Given the description of an element on the screen output the (x, y) to click on. 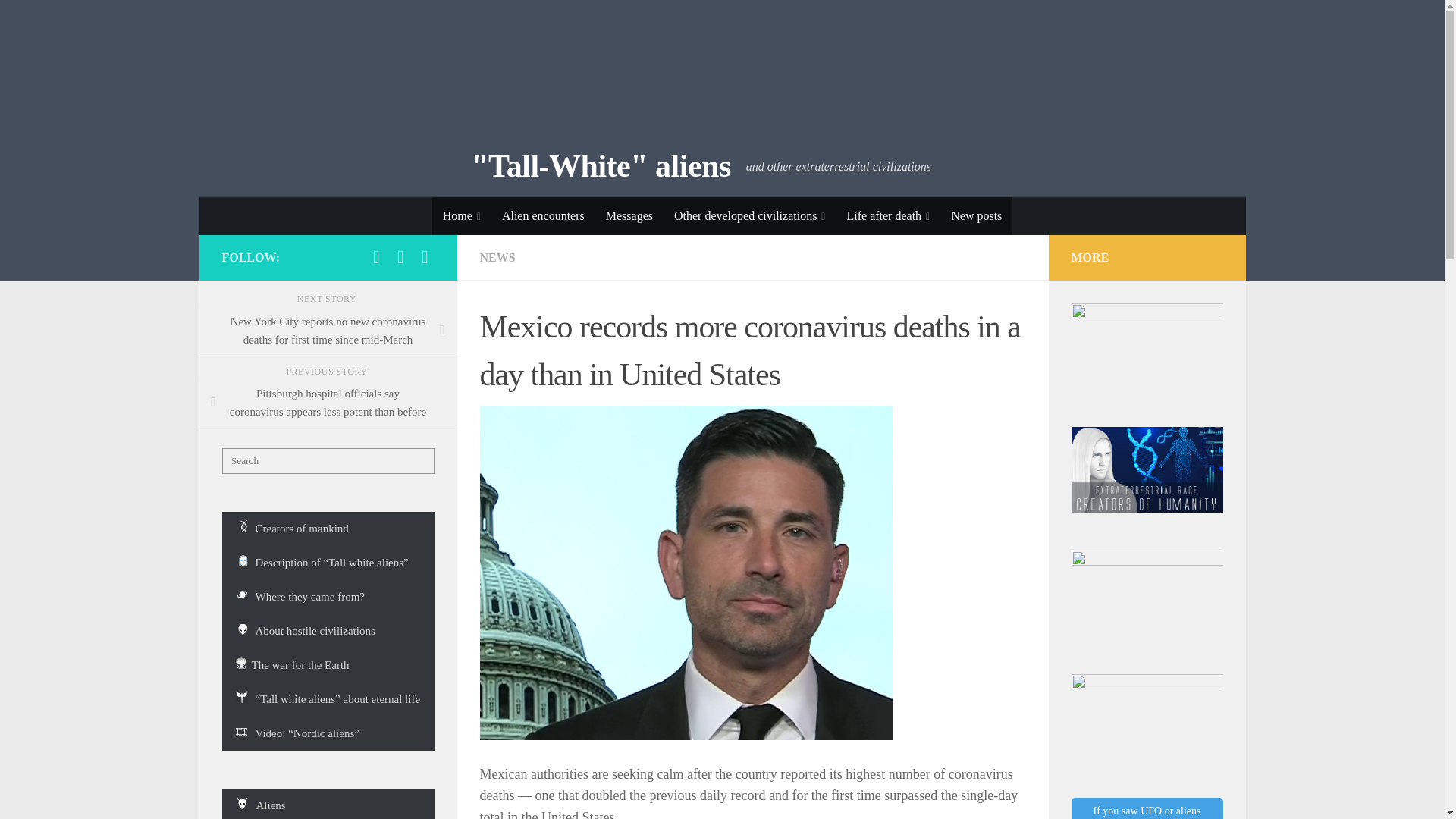
Follow us on Instagram (423, 257)
Home (462, 216)
Follow us on Facebook (400, 257)
Follow us on Youtube (375, 257)
"Tall-White" aliens (600, 166)
Skip to content (59, 20)
